Given the description of an element on the screen output the (x, y) to click on. 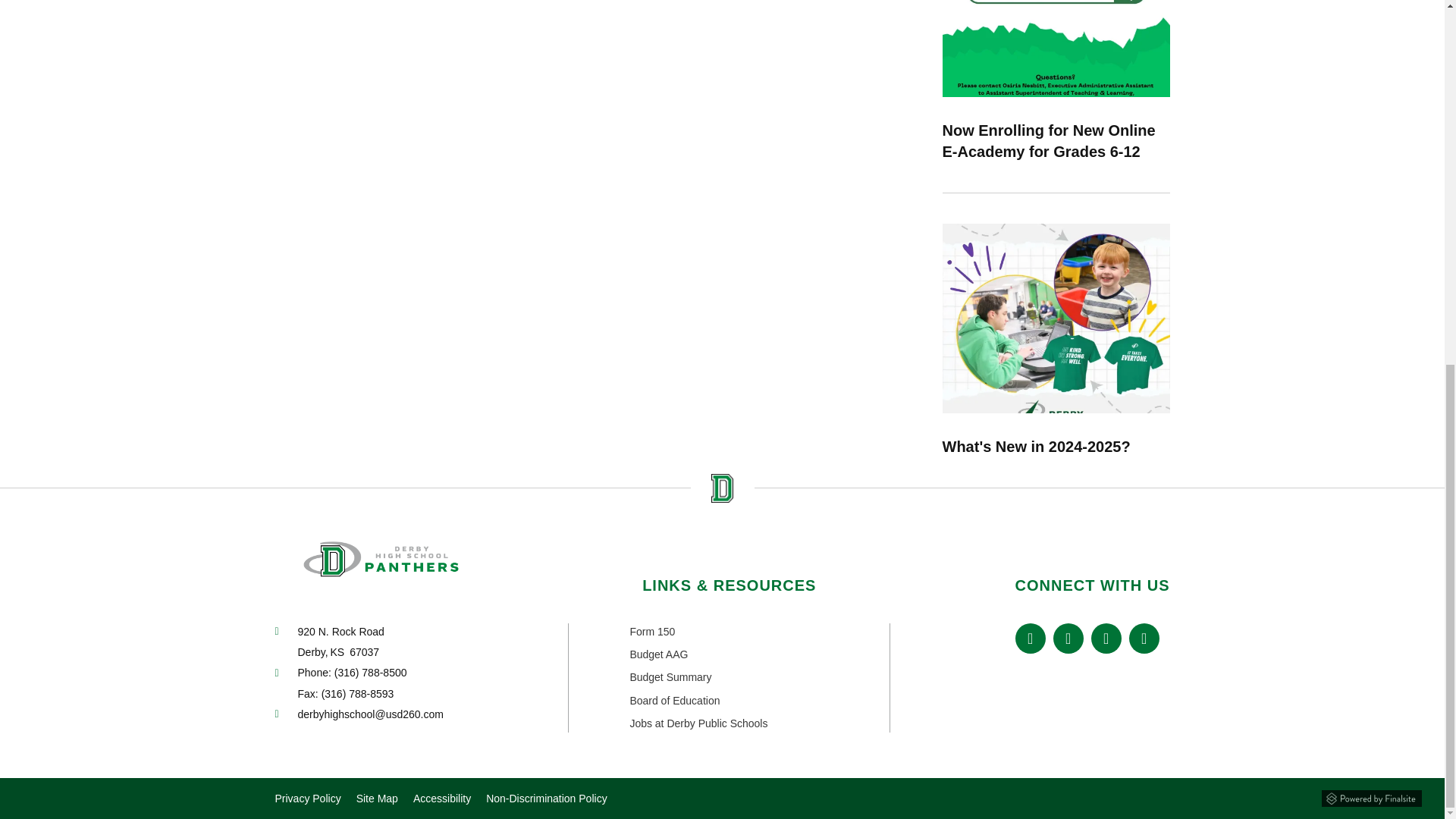
Powered by Finalsite opens in a new window (1372, 798)
Email (369, 714)
